Given the description of an element on the screen output the (x, y) to click on. 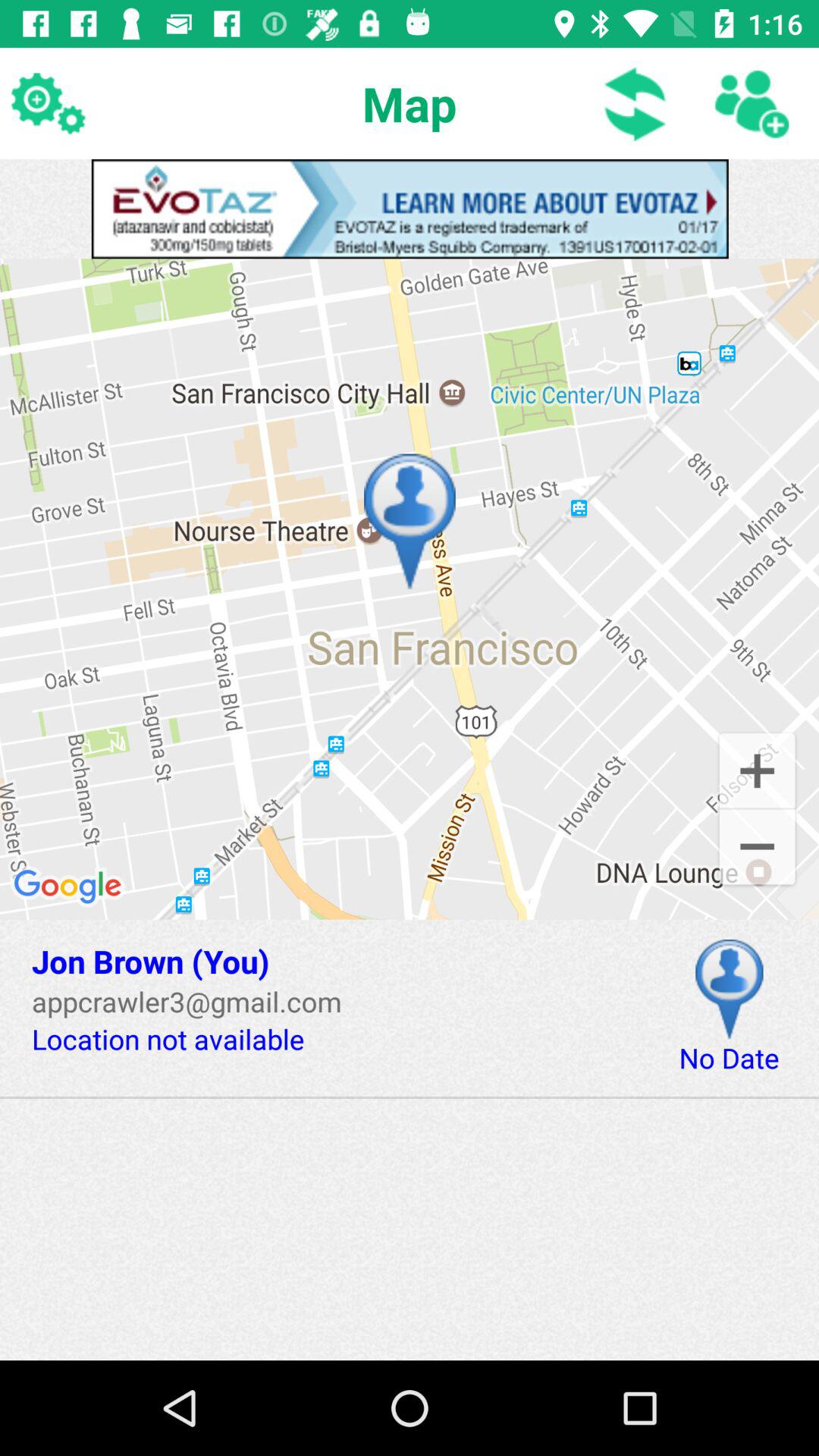
add person (751, 103)
